Given the description of an element on the screen output the (x, y) to click on. 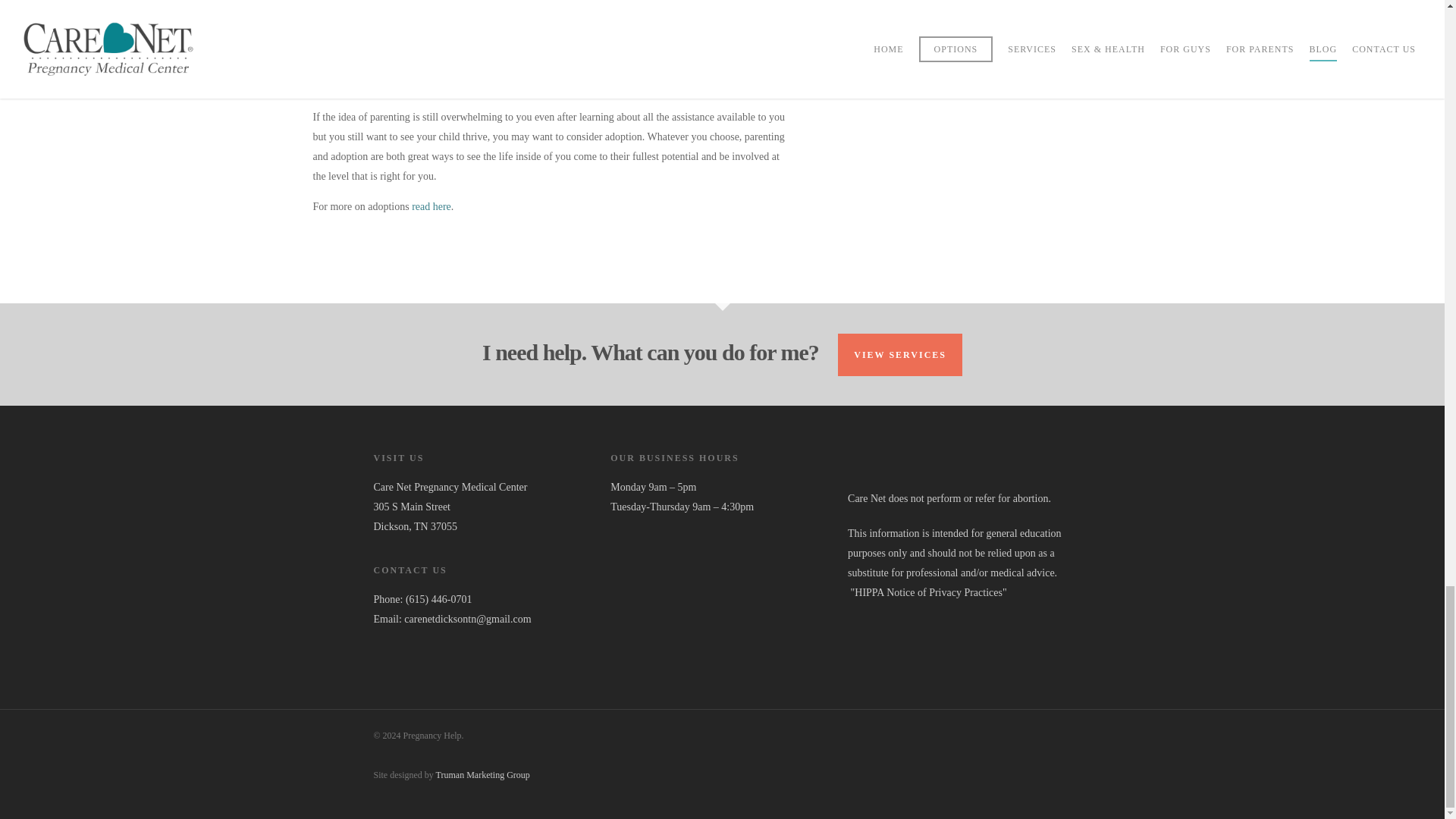
read here (431, 210)
 "HIPPA Notice of Privacy Practices" (927, 592)
Truman Marketing Group (482, 774)
VIEW SERVICES (900, 354)
